Given the description of an element on the screen output the (x, y) to click on. 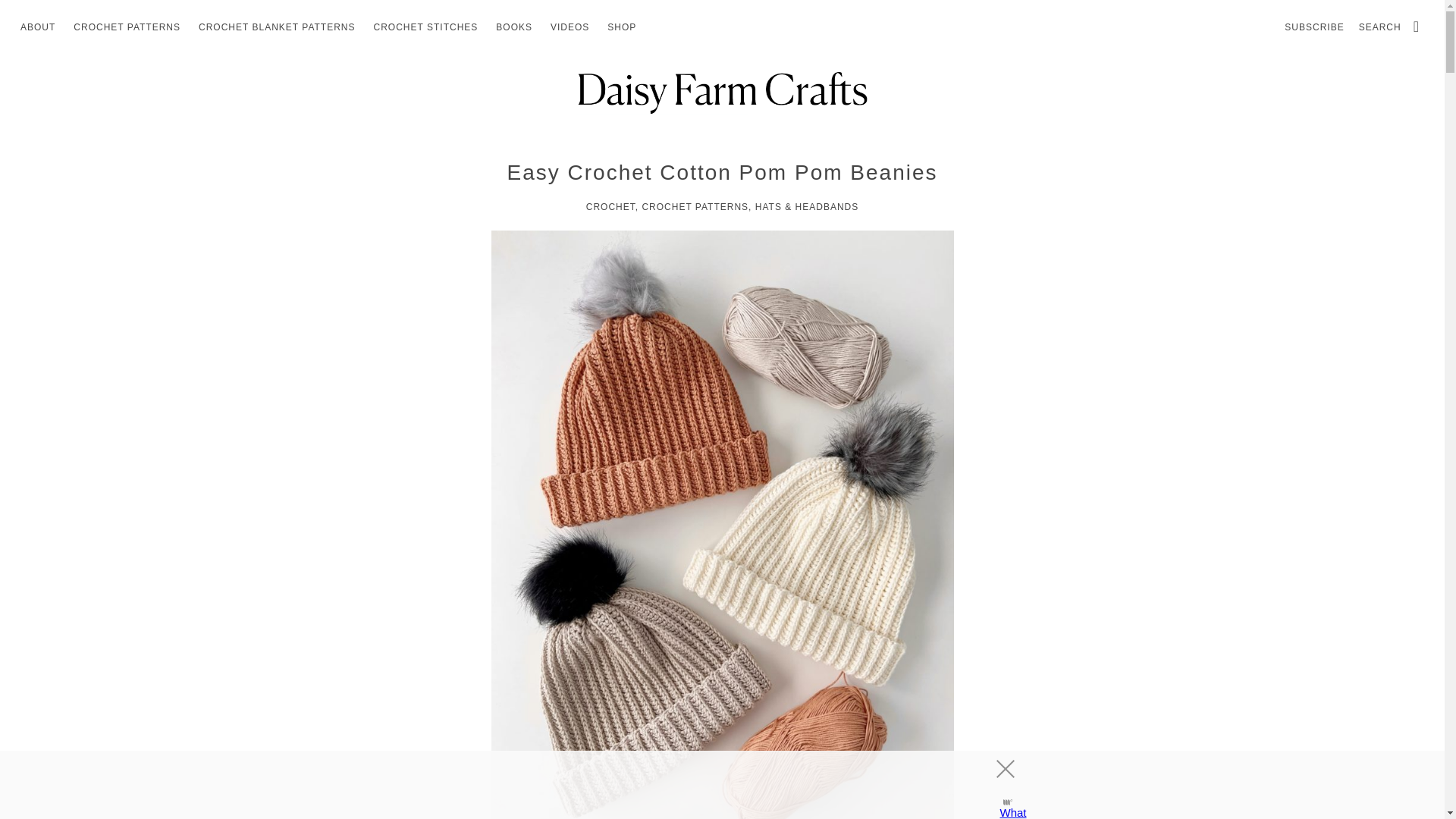
3rd party ad content (708, 785)
